Given the description of an element on the screen output the (x, y) to click on. 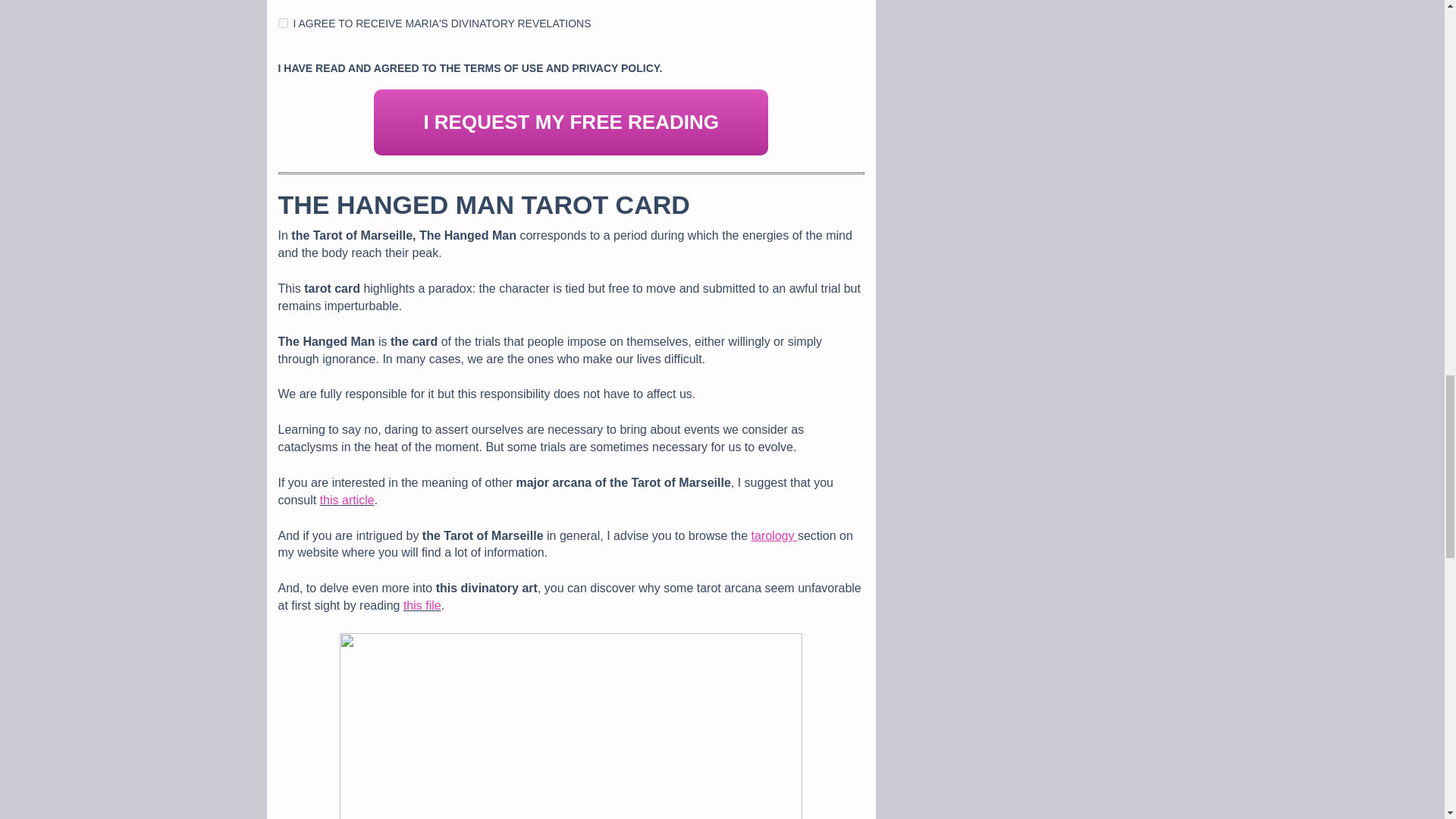
1 (282, 22)
I REQUEST MY FREE READING (571, 122)
tarology (774, 535)
TERMS OF USE (503, 68)
this file (422, 604)
PRIVACY POLICY (615, 68)
this article (347, 499)
